Given the description of an element on the screen output the (x, y) to click on. 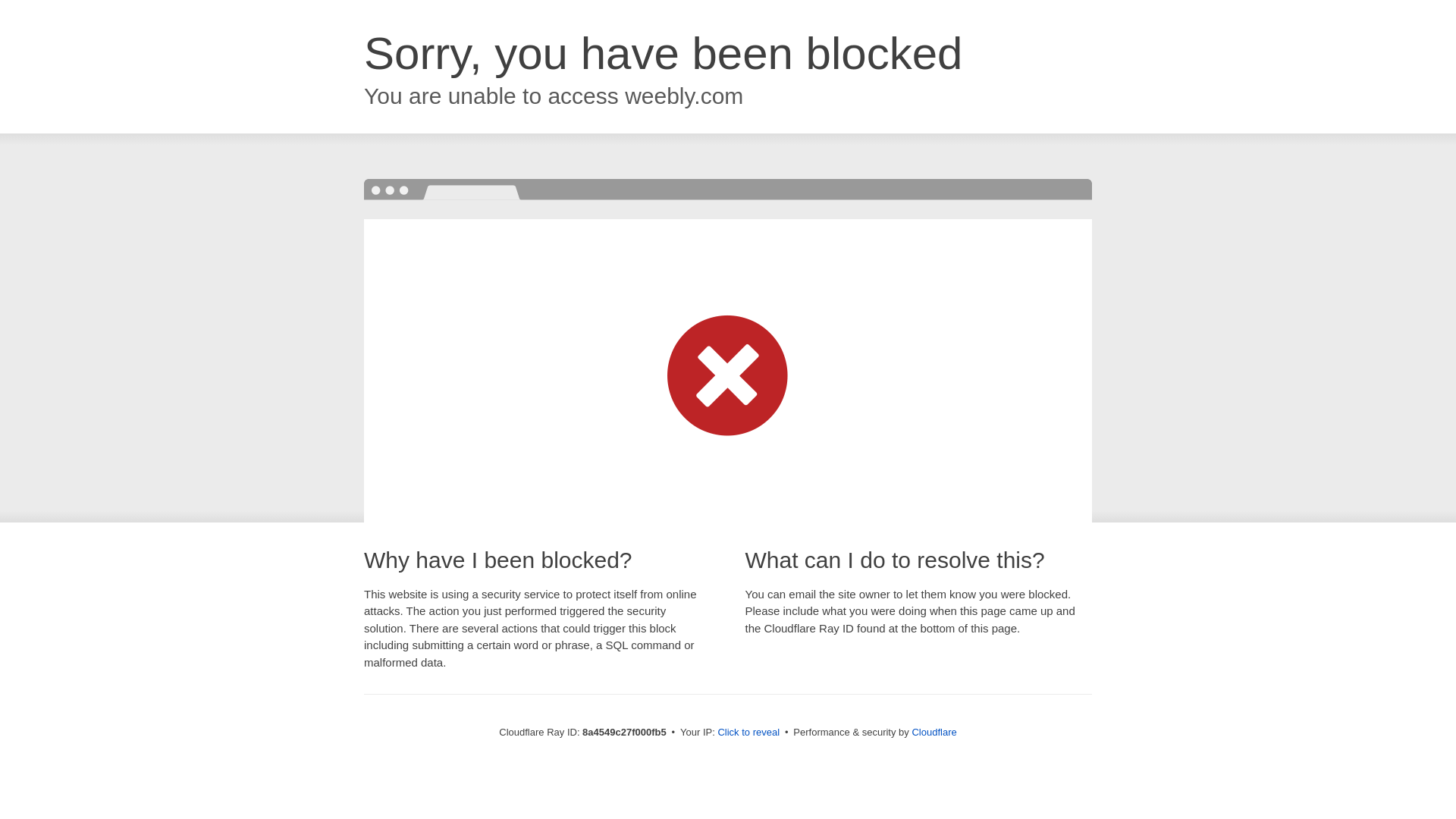
Cloudflare (933, 731)
Click to reveal (747, 732)
